Given the description of an element on the screen output the (x, y) to click on. 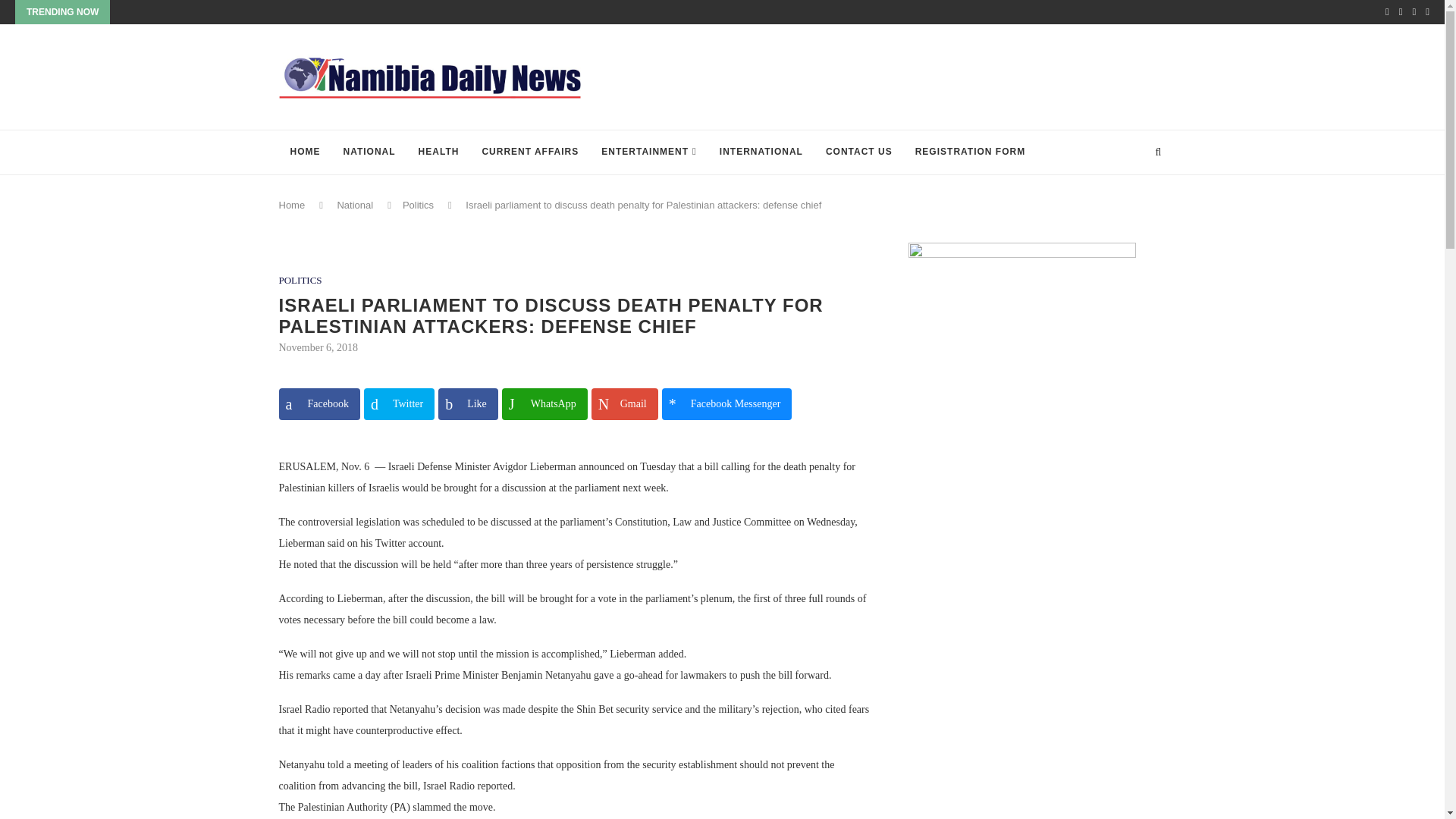
NATIONAL (369, 152)
CURRENT AFFAIRS (529, 152)
HOME (305, 152)
Share on Facebook Messenger (727, 404)
Share on Twitter (398, 404)
Share on WhatsApp (545, 404)
Share on Like (467, 404)
Share on Gmail (624, 404)
ENTERTAINMENT (648, 152)
Share on Facebook (319, 404)
